Given the description of an element on the screen output the (x, y) to click on. 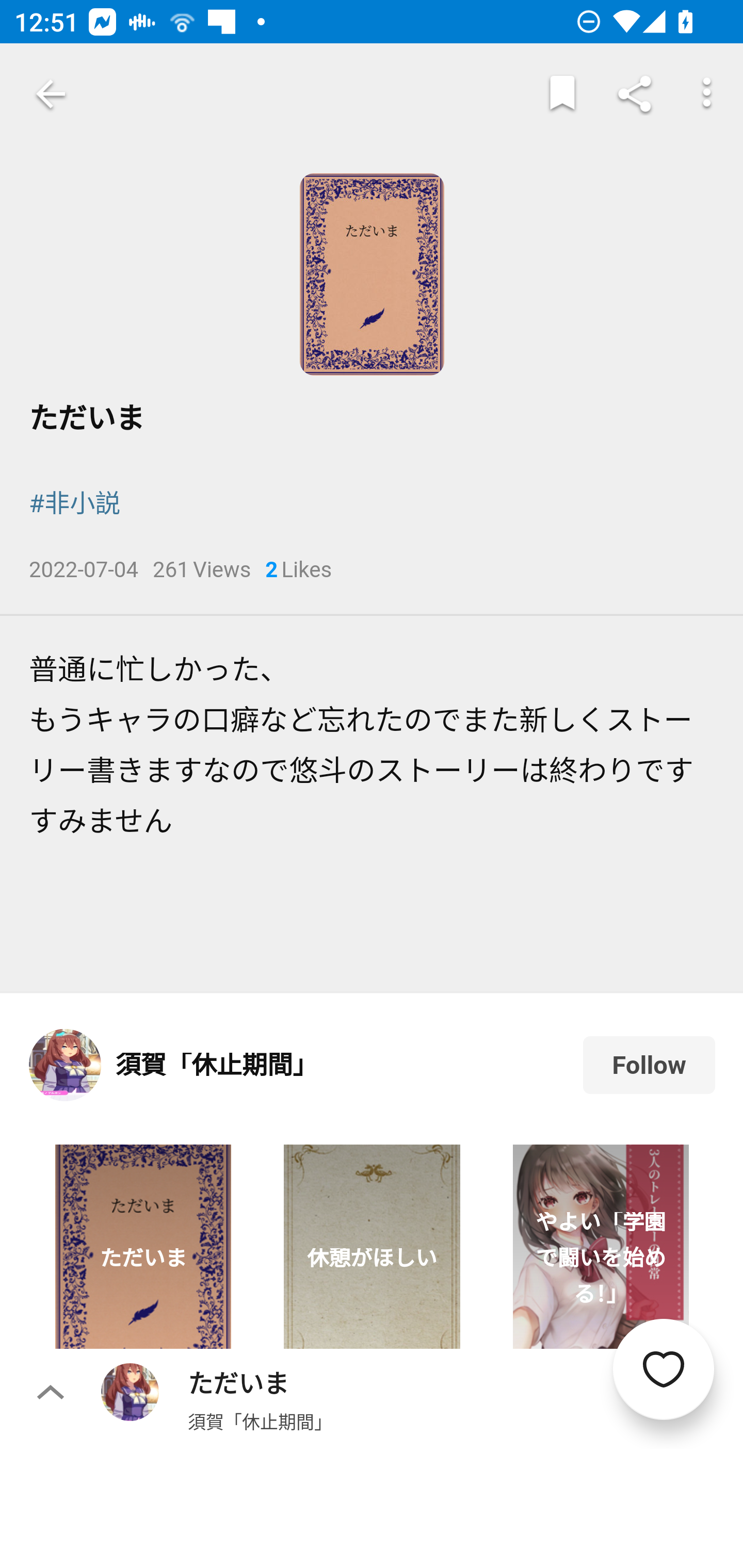
Navigate up (50, 93)
Markers (562, 93)
Share (634, 93)
More options (706, 93)
#非小説 (74, 503)
2Likes (298, 570)
Follow (648, 1065)
須賀「休止期間」 (259, 1421)
